Given the description of an element on the screen output the (x, y) to click on. 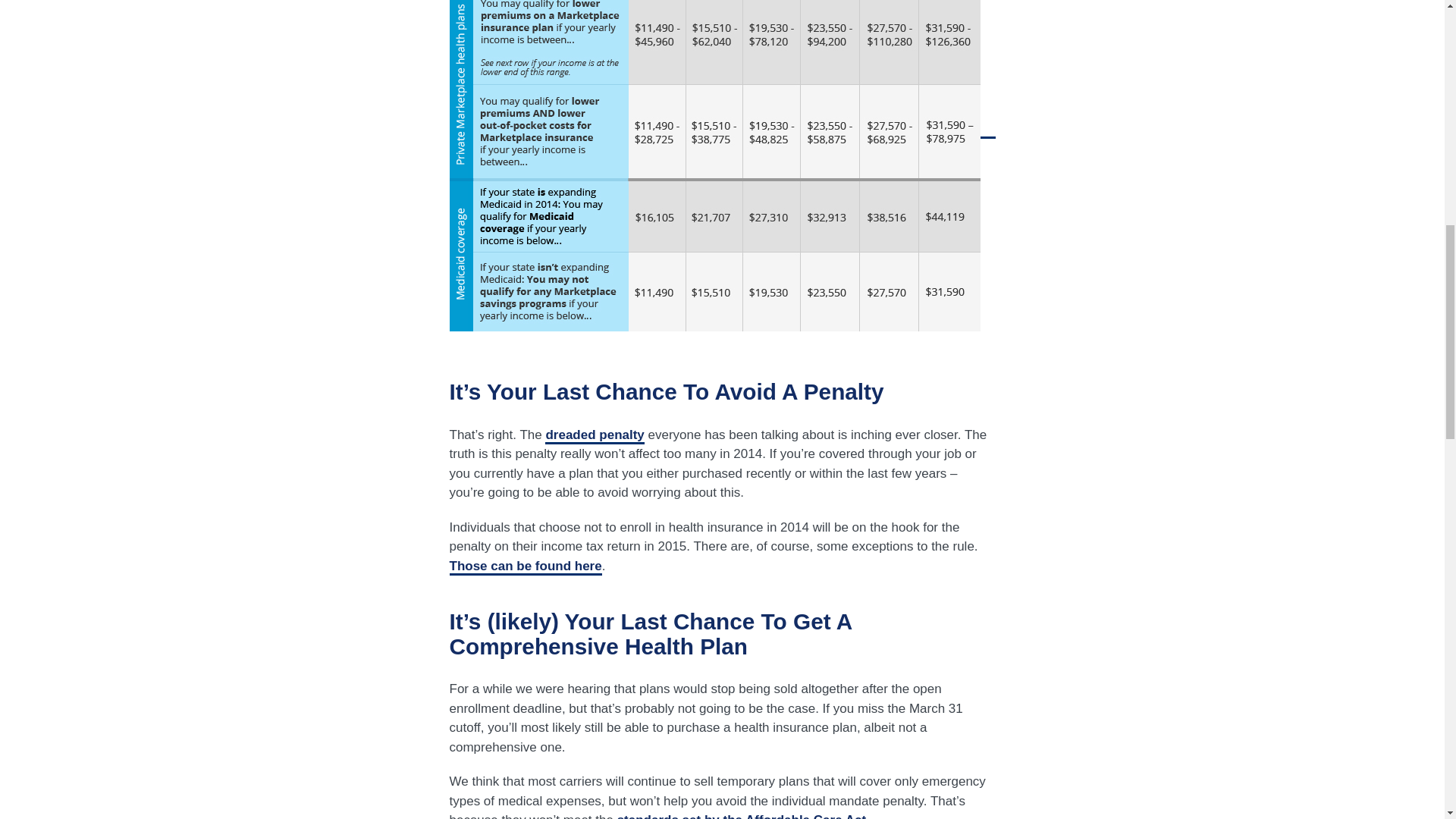
What if someone doesn't have health coverage in 2014? (593, 435)
What is a Qualified Health Plan? (741, 816)
Those can be found here (524, 566)
dreaded penalty (593, 435)
